Given the description of an element on the screen output the (x, y) to click on. 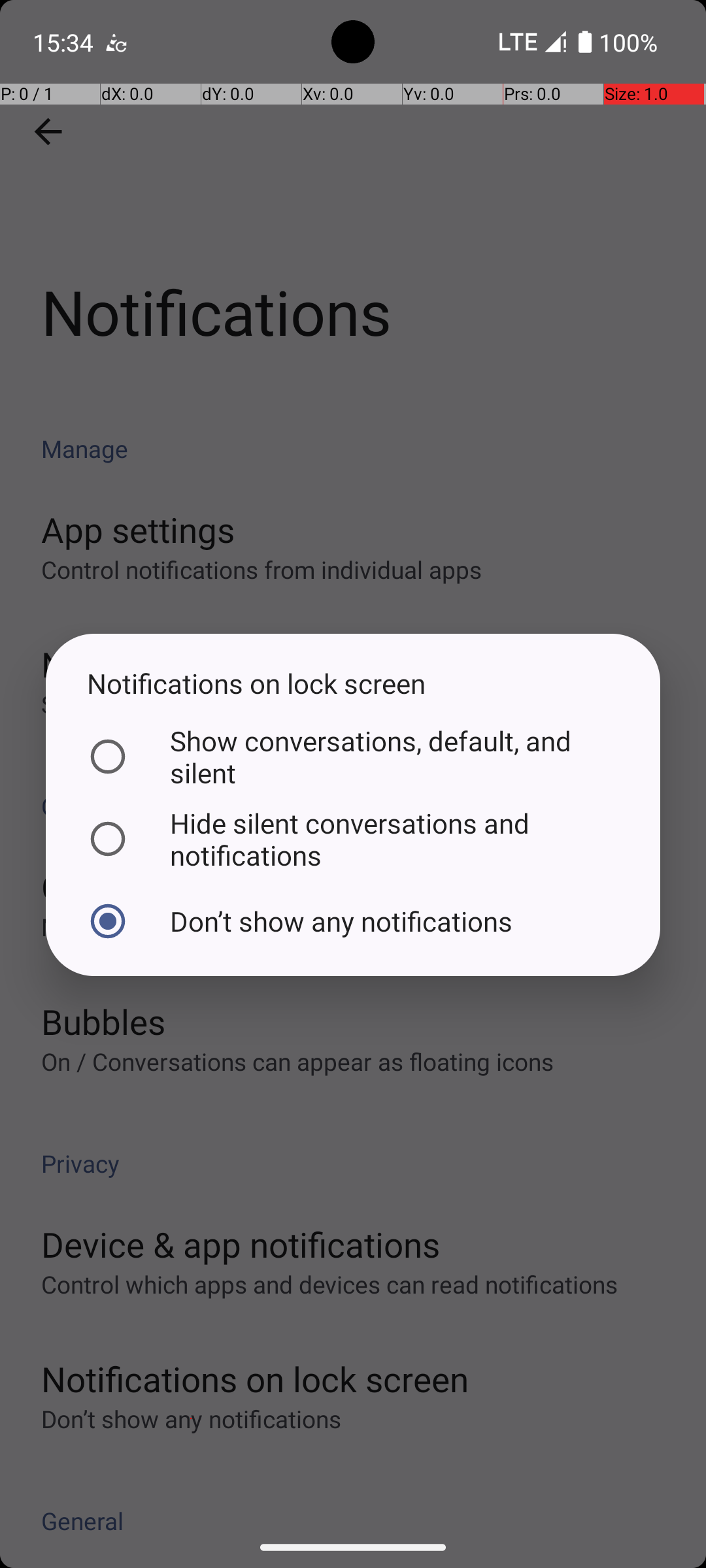
Show conversations, default, and silent Element type: android.widget.CheckedTextView (349, 756)
